Given the description of an element on the screen output the (x, y) to click on. 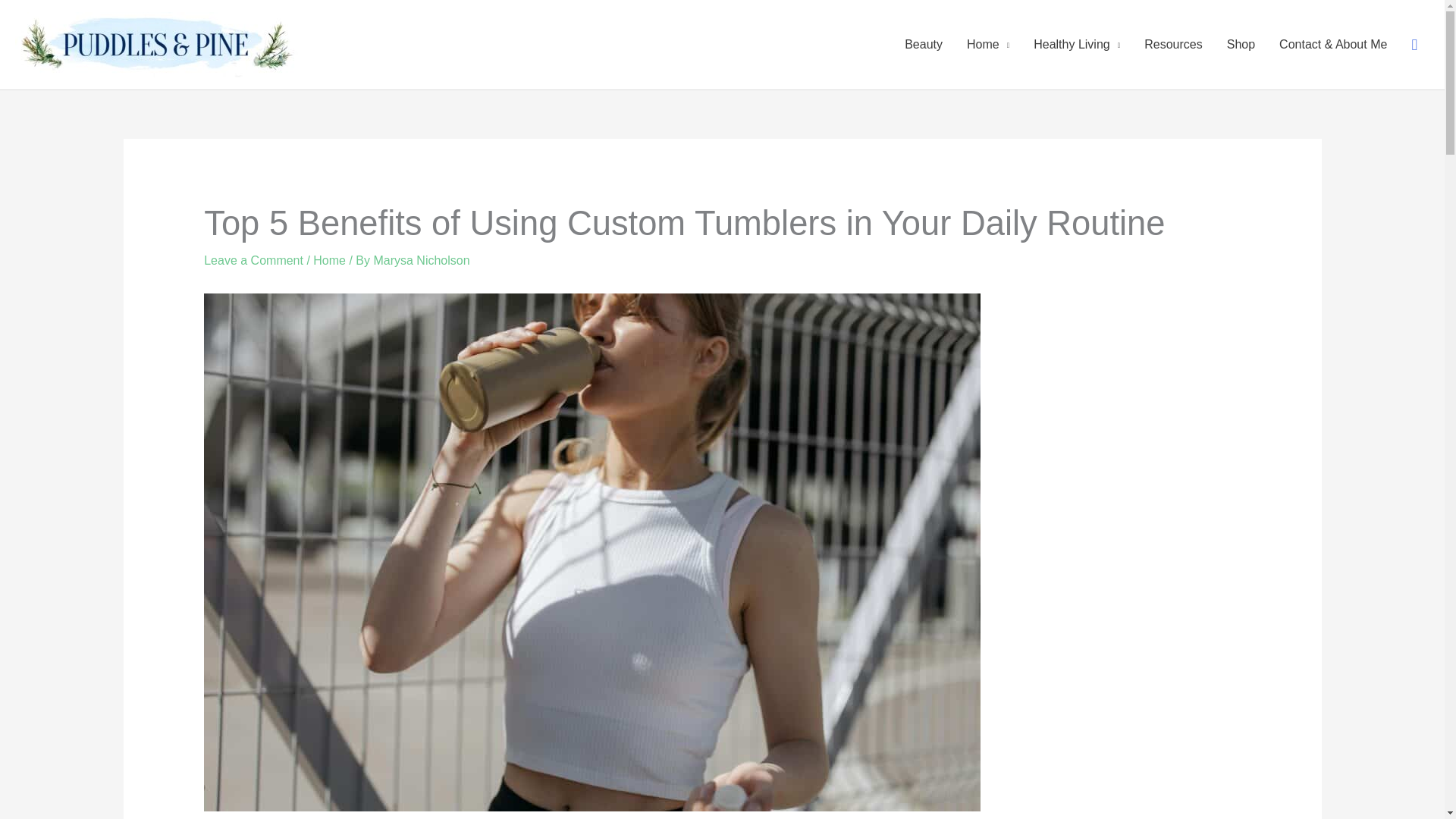
Resources (1173, 44)
Healthy Living (1077, 44)
Marysa Nicholson (420, 259)
Leave a Comment (252, 259)
Home (988, 44)
Home (329, 259)
View all posts by Marysa Nicholson (420, 259)
Shop (1240, 44)
Beauty (923, 44)
